Given the description of an element on the screen output the (x, y) to click on. 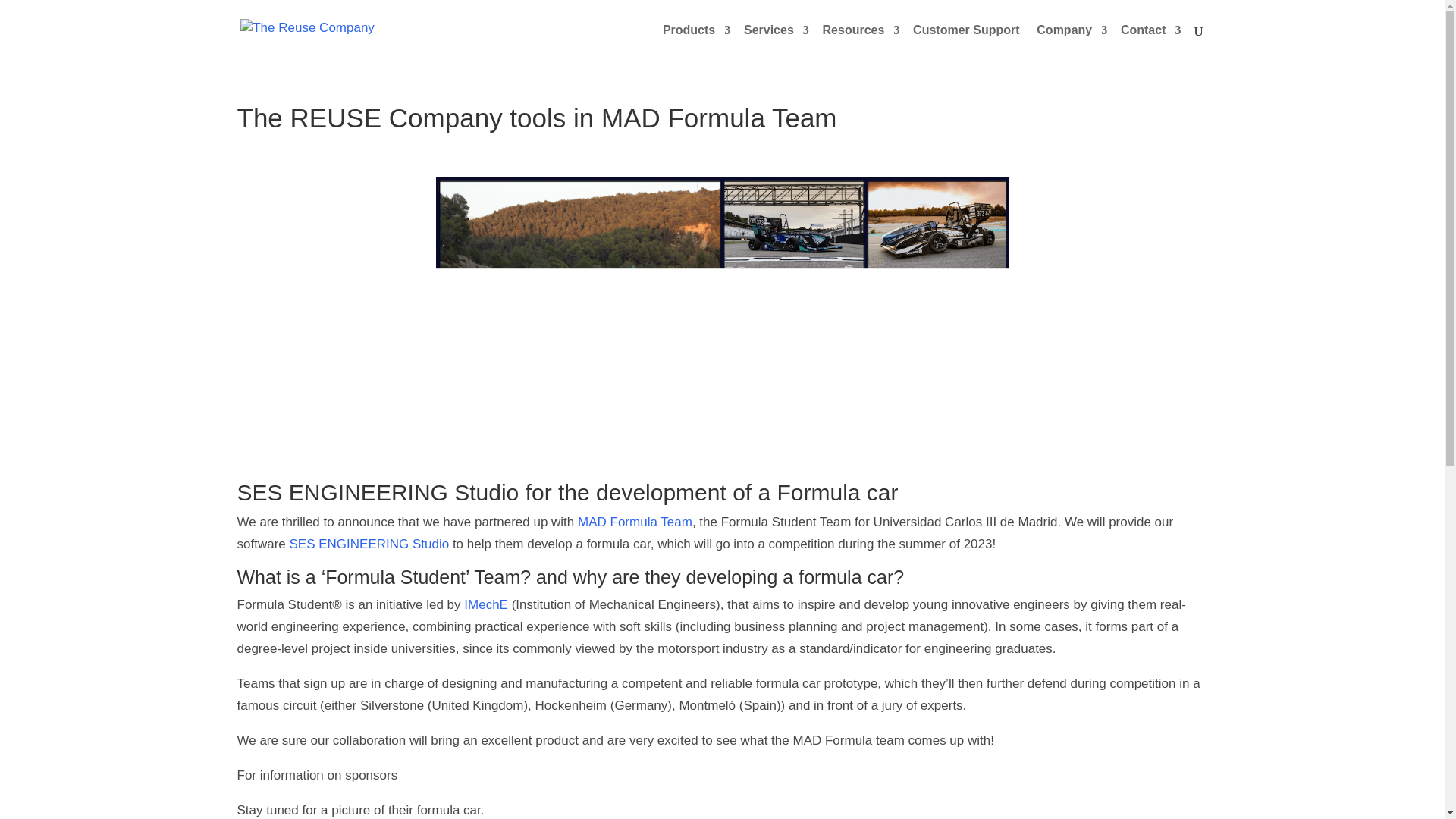
Resources (859, 42)
MAD Formula Team (635, 522)
Products (694, 42)
Services (774, 42)
tools (368, 544)
